Given the description of an element on the screen output the (x, y) to click on. 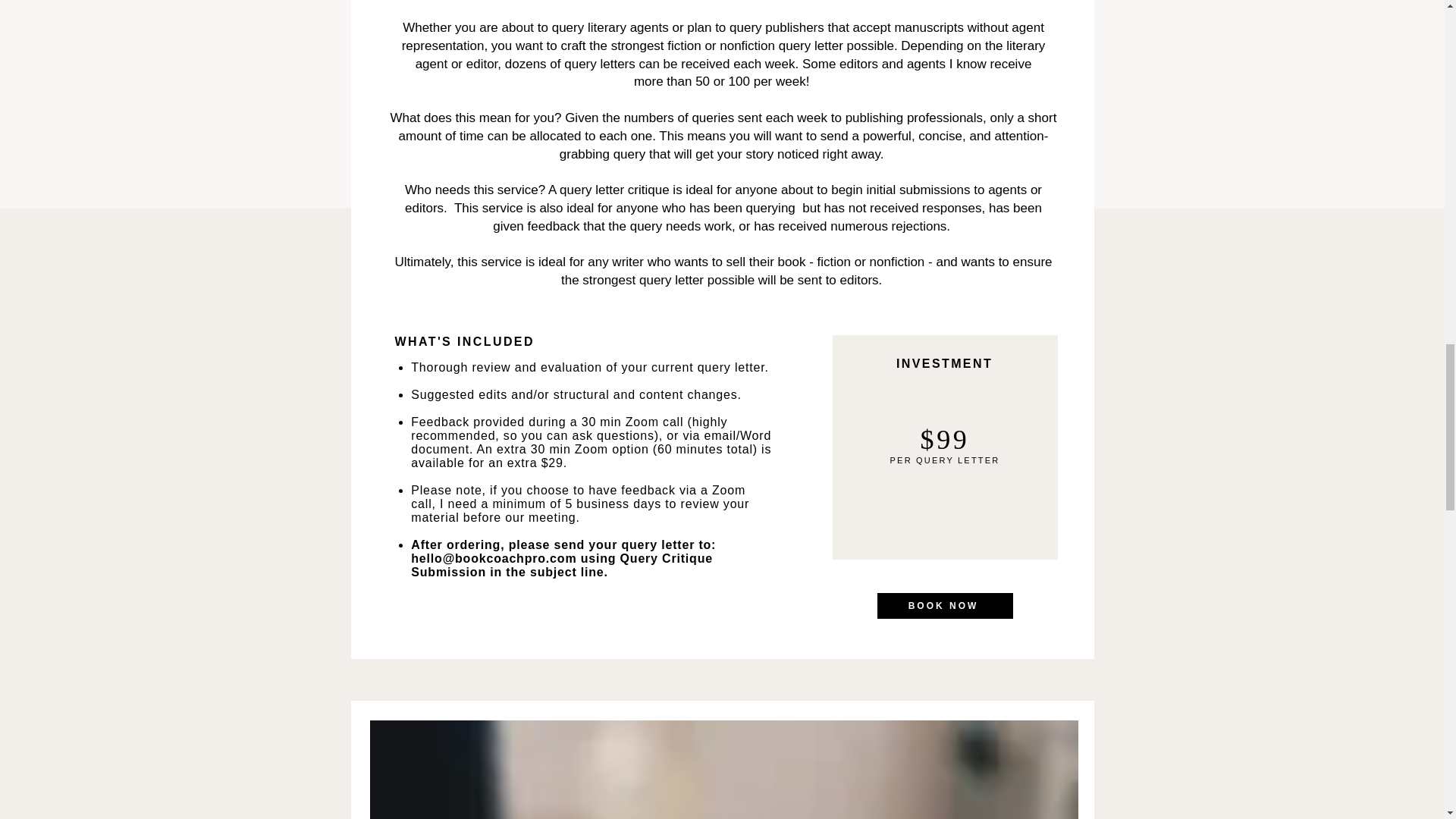
BOOK NOW (943, 605)
